Given the description of an element on the screen output the (x, y) to click on. 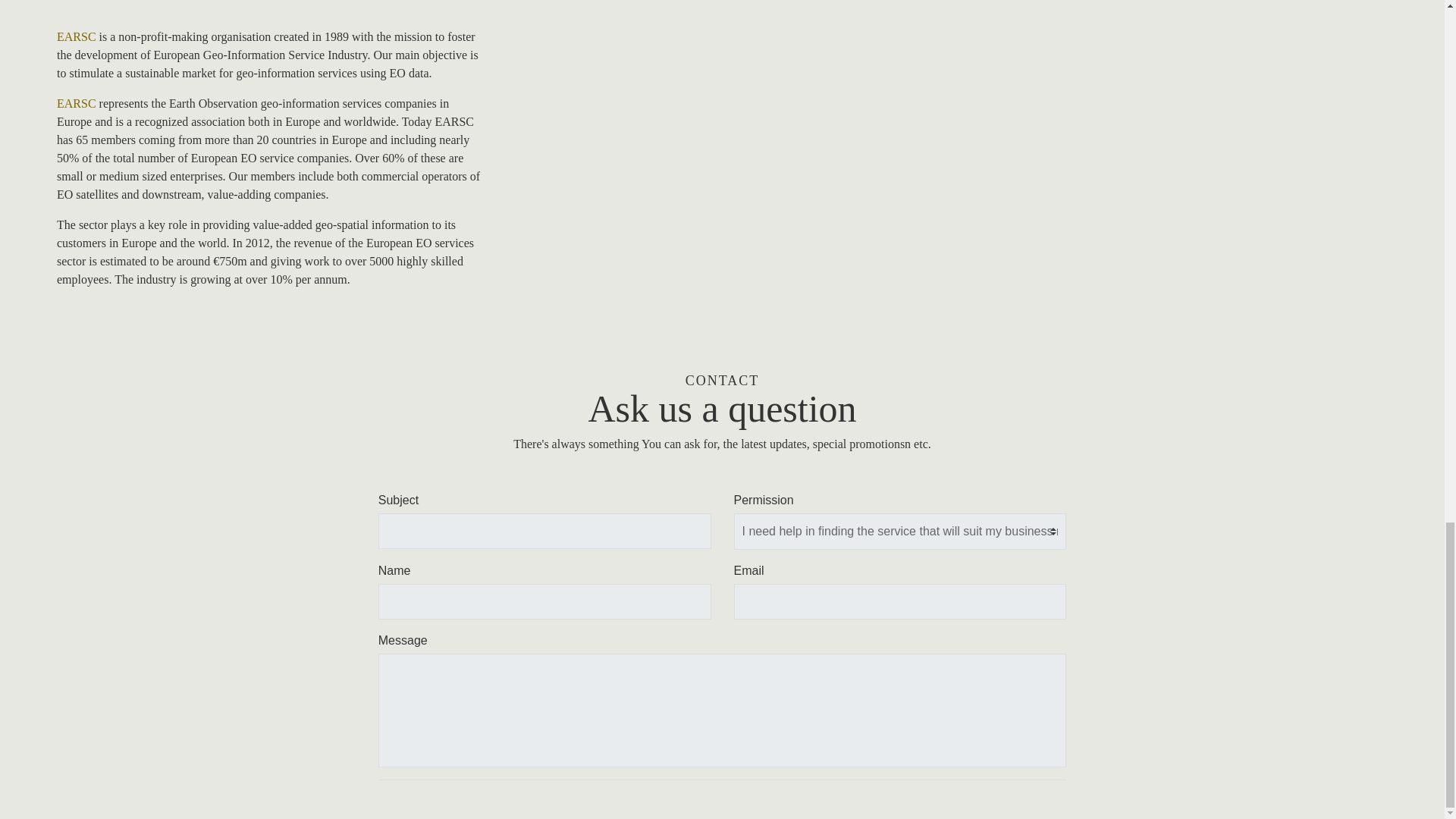
EARSC (76, 103)
EARSC (76, 103)
EARSC (76, 36)
EARSC (76, 36)
